Given the description of an element on the screen output the (x, y) to click on. 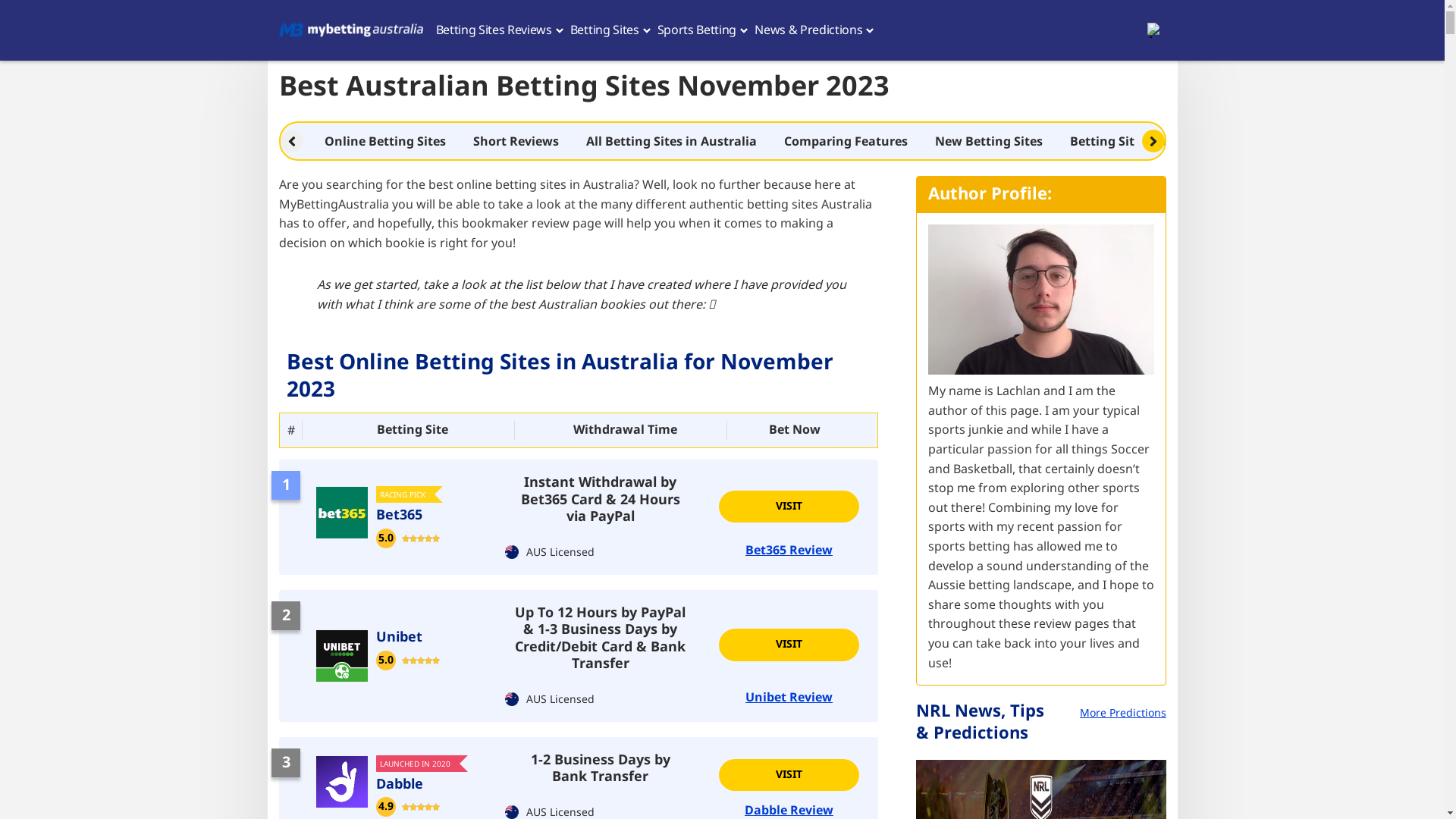
1-2 Business Days by Bank Transfer Element type: text (599, 769)
VISIT Element type: text (788, 644)
VISIT Element type: text (788, 774)
australian-flag-icon Element type: hover (511, 551)
Australia Element type: hover (1155, 29)
Instant Withdrawal by Bet365 Card & 24 Hours via PayPal Element type: text (599, 500)
More Predictions Element type: text (1122, 713)
New Betting Sites Element type: text (988, 141)
Betting Sites Bonuses Element type: text (1135, 141)
VISIT Element type: text (788, 505)
Bet365 Element type: hover (341, 512)
Short Reviews Element type: text (516, 141)
All Betting Sites in Australia Element type: text (670, 141)
Comparing Features Element type: text (845, 141)
Unibet-120x120.png Element type: hover (341, 655)
Lachlan Malek Element type: hover (1041, 299)
Bet365 Review Element type: text (787, 550)
australian-flag-icon Element type: hover (511, 699)
Unibet Review Element type: text (787, 697)
Online Betting Sites Element type: text (385, 141)
Dabble-120x120.png Element type: hover (341, 781)
